Given the description of an element on the screen output the (x, y) to click on. 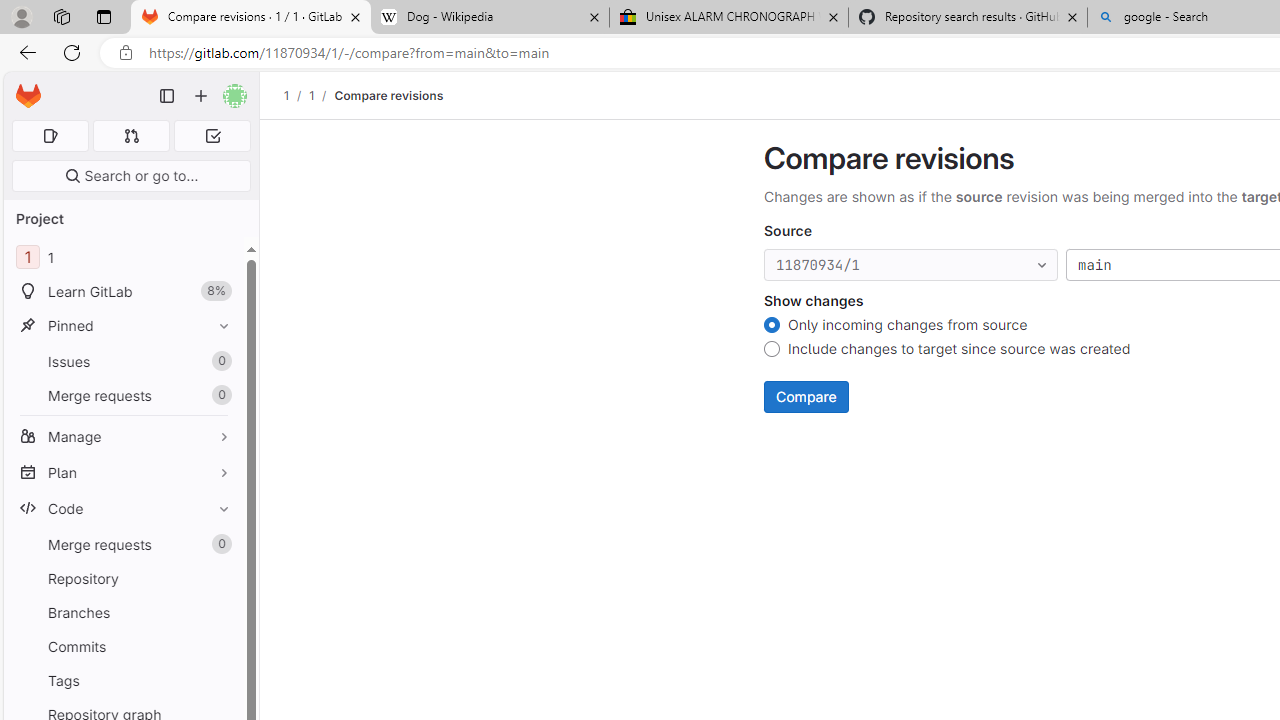
Branches (123, 612)
11 (123, 257)
Skip to main content (23, 87)
Primary navigation sidebar (167, 96)
1 1 (123, 257)
Repository (123, 578)
Pin Repository (219, 578)
Create new... (201, 96)
1 (311, 95)
Merge requests 0 (131, 136)
Pinned (123, 325)
Assigned issues 0 (50, 136)
